Given the description of an element on the screen output the (x, y) to click on. 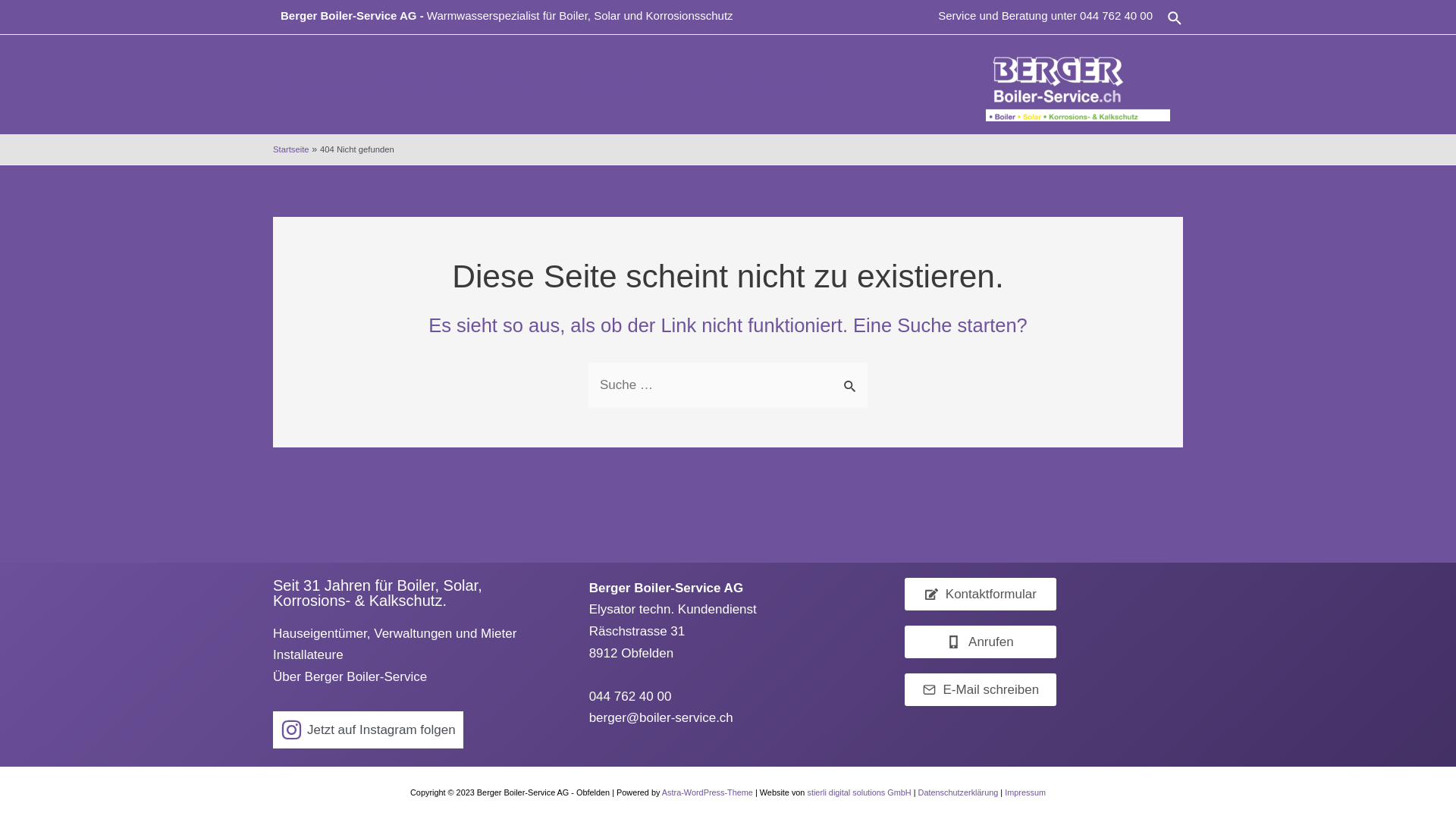
Suche Element type: text (1175, 18)
Installateure Element type: text (308, 655)
Astra-WordPress-Theme Element type: text (707, 792)
Kontaktformular Element type: text (980, 593)
E-Mail schreiben Element type: text (980, 689)
Jetzt auf Instagram folgen Element type: text (368, 729)
Installateure Element type: text (616, 84)
044 762 40 00 Element type: text (630, 696)
Startseite Element type: text (291, 149)
044 762 40 00 Element type: text (1115, 15)
Impressum Element type: text (1024, 792)
Anrufen Element type: text (980, 641)
Suche Element type: text (851, 377)
berger@boiler-service.ch Element type: text (661, 717)
stierli digital solutions GmbH Element type: text (858, 792)
